Given the description of an element on the screen output the (x, y) to click on. 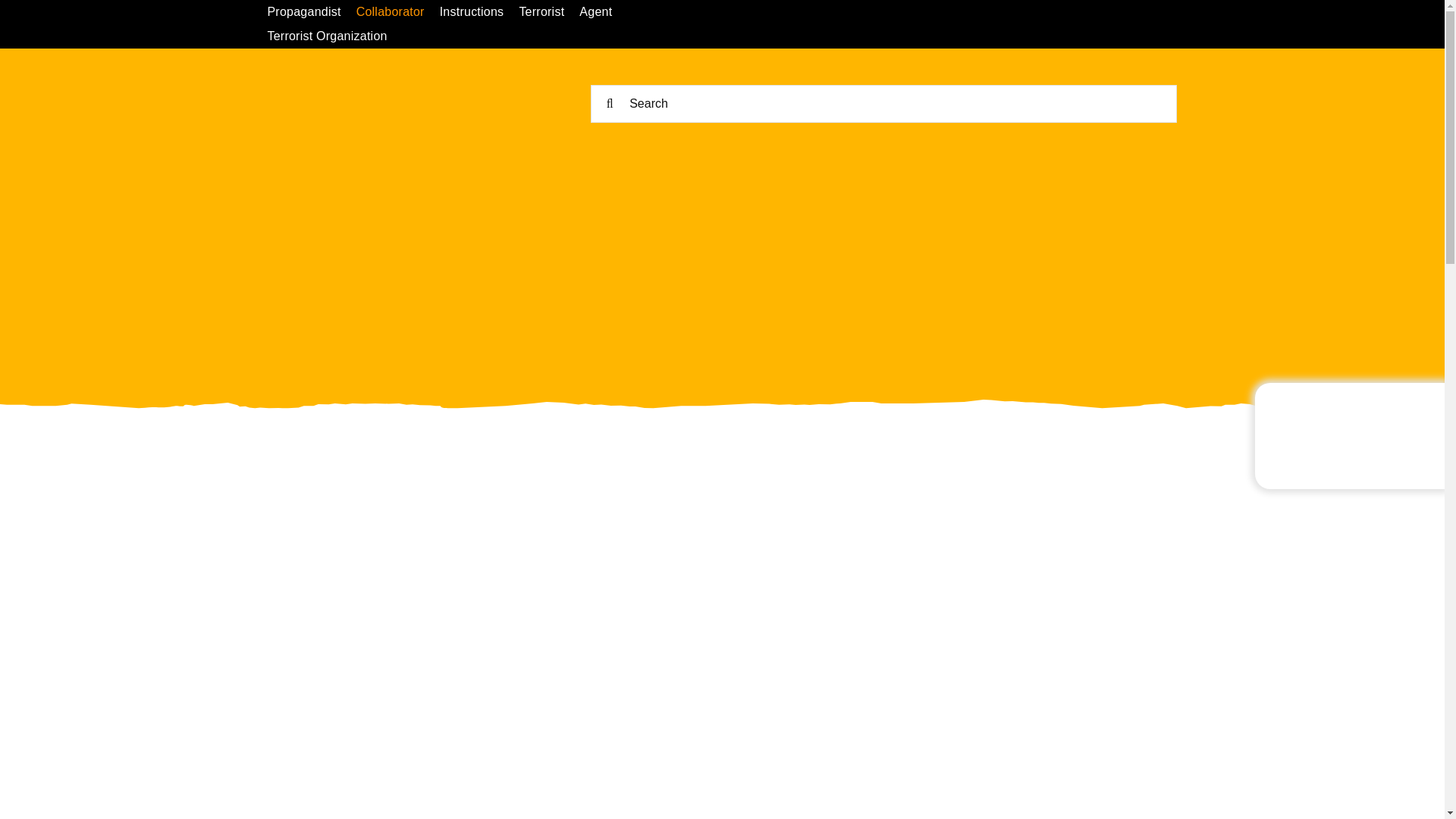
Collaborator (397, 12)
Agent (603, 12)
Propagandist (310, 12)
Instructions (479, 12)
Terrorist (548, 12)
Terrorist Organization (333, 36)
